Given the description of an element on the screen output the (x, y) to click on. 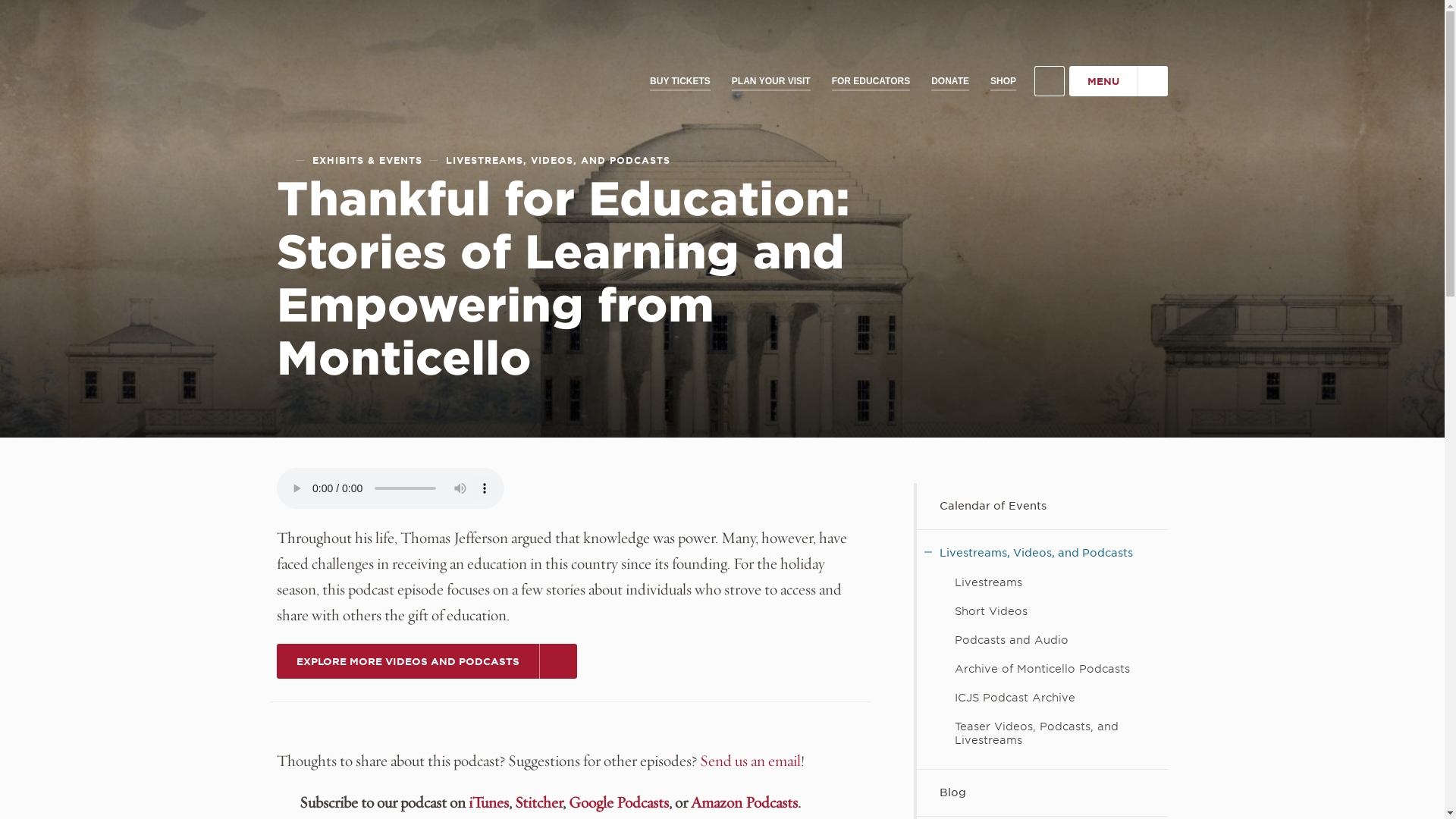
Calendar of Events (1042, 506)
Thomas Jefferson's Monticello (391, 63)
Google Podcasts (618, 802)
Archive of Monticello Podcasts (1042, 669)
Livestreams (1042, 582)
Search (1048, 81)
PLAN YOUR VISIT (770, 81)
DONATE (949, 81)
BUY TICKETS (679, 81)
EXPLORE MORE VIDEOS AND PODCASTS (426, 660)
